Given the description of an element on the screen output the (x, y) to click on. 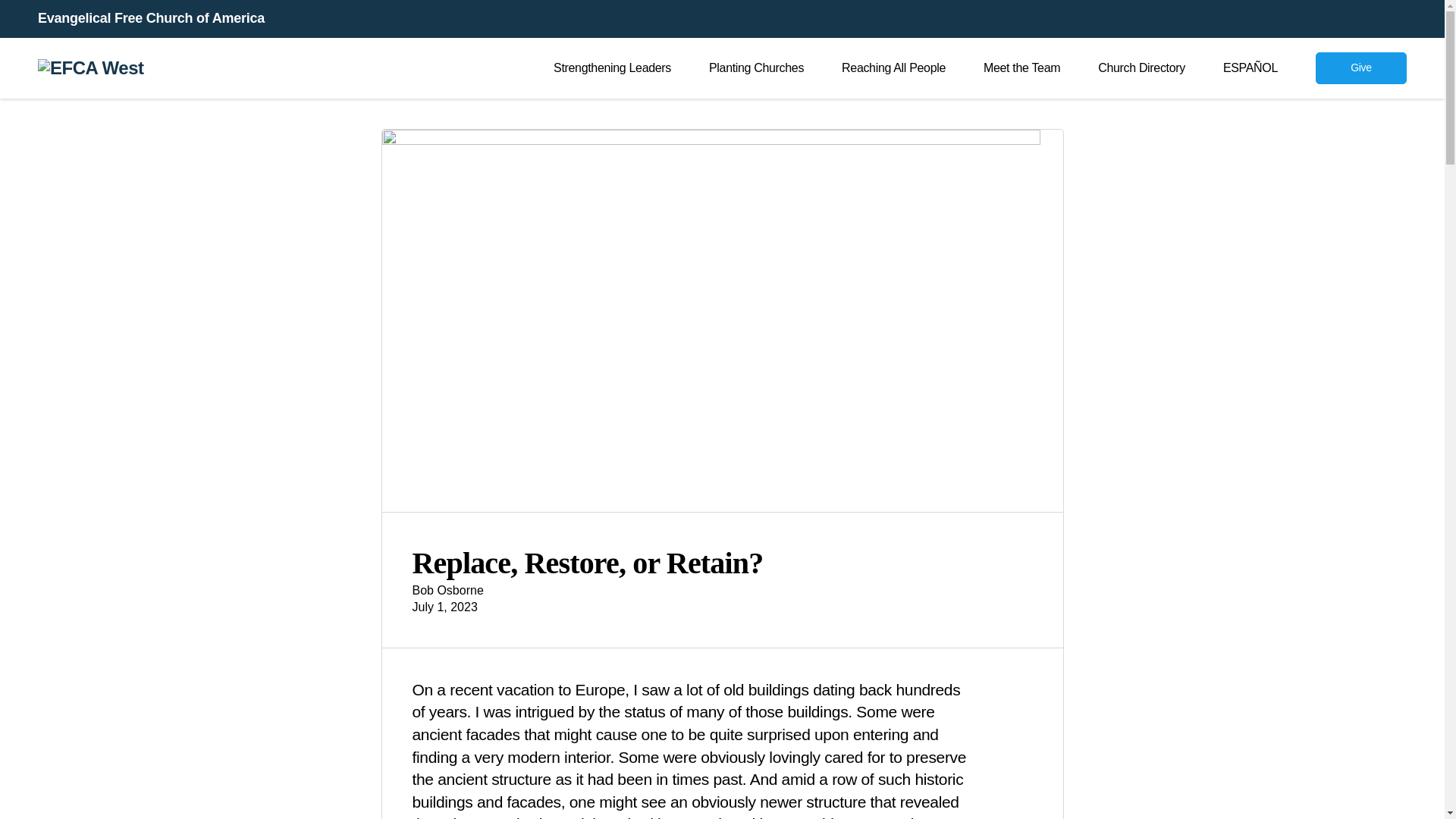
Church Directory (1141, 68)
Evangelical Free Church of America (151, 18)
Planting Churches (756, 68)
Reaching All People (892, 68)
Strengthening Leaders (612, 68)
Give (1361, 68)
Meet the Team (1021, 68)
